Given the description of an element on the screen output the (x, y) to click on. 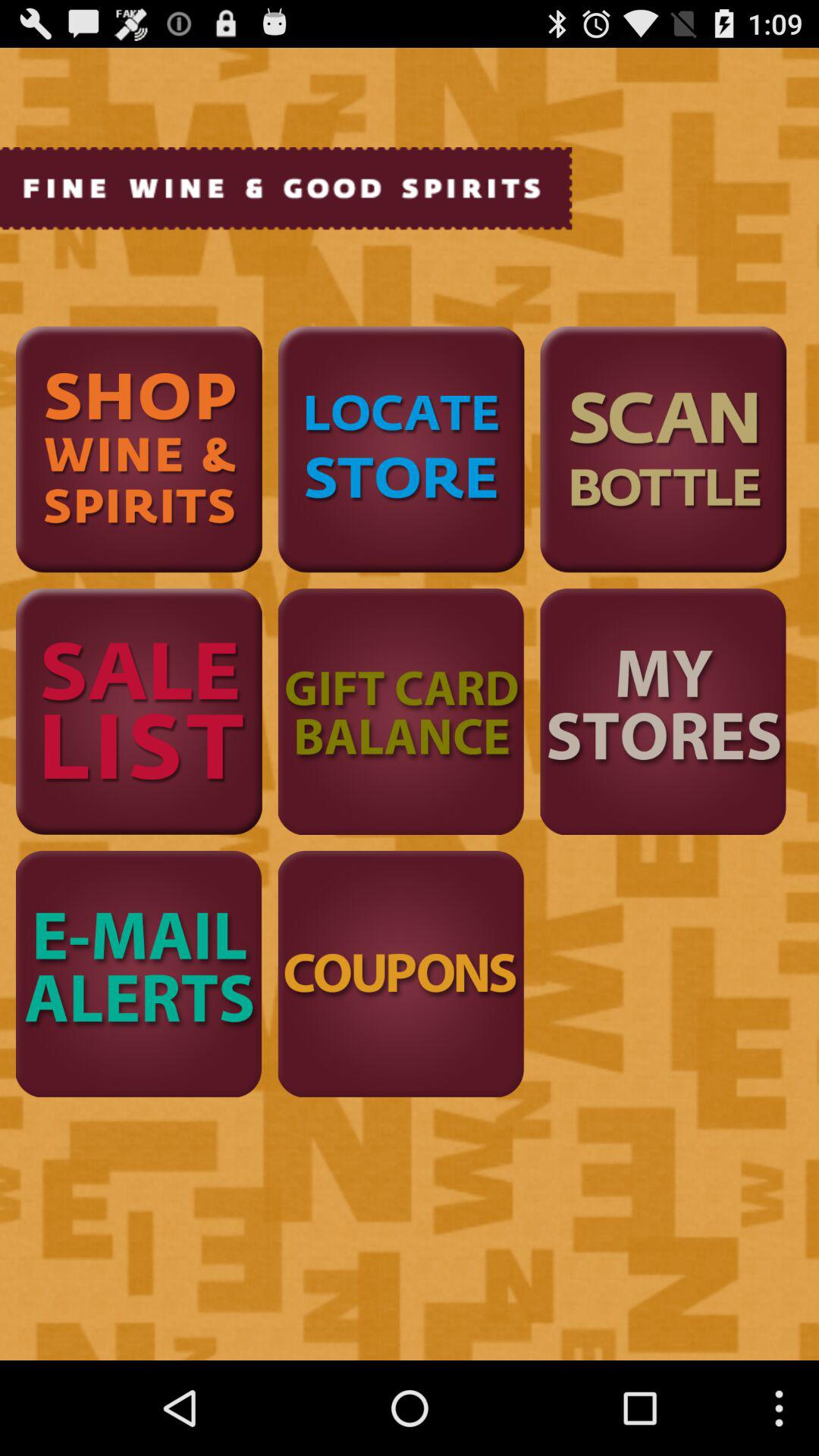
stores (663, 711)
